Given the description of an element on the screen output the (x, y) to click on. 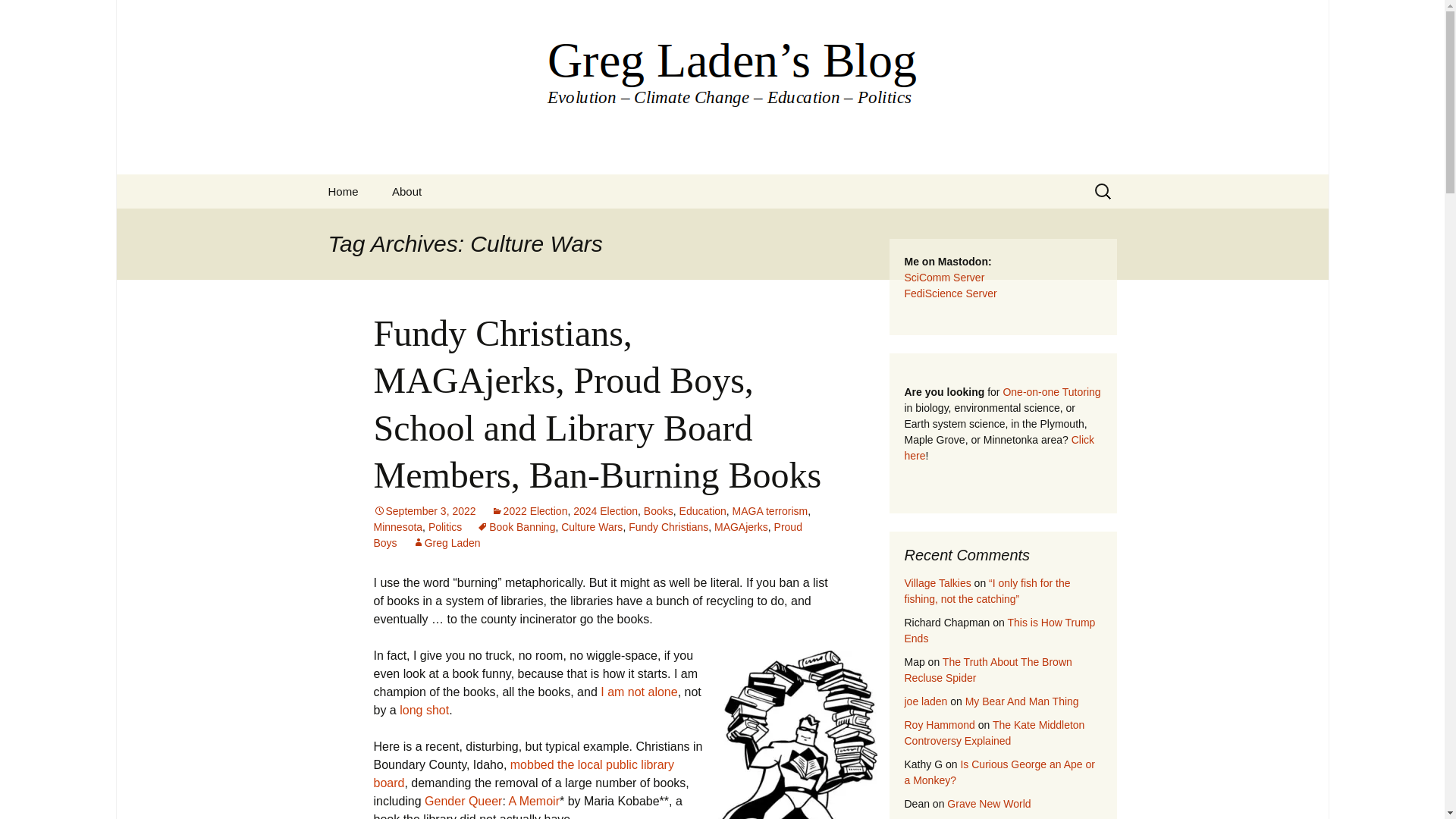
MAGA terrorism (770, 510)
2022 Election (529, 510)
2024 Election (605, 510)
About (406, 191)
September 3, 2022 (424, 510)
Politics (444, 526)
Click here (999, 447)
Education (702, 510)
Search (18, 15)
Culture Wars (591, 526)
Proud Boys (587, 534)
Home (342, 191)
